Given the description of an element on the screen output the (x, y) to click on. 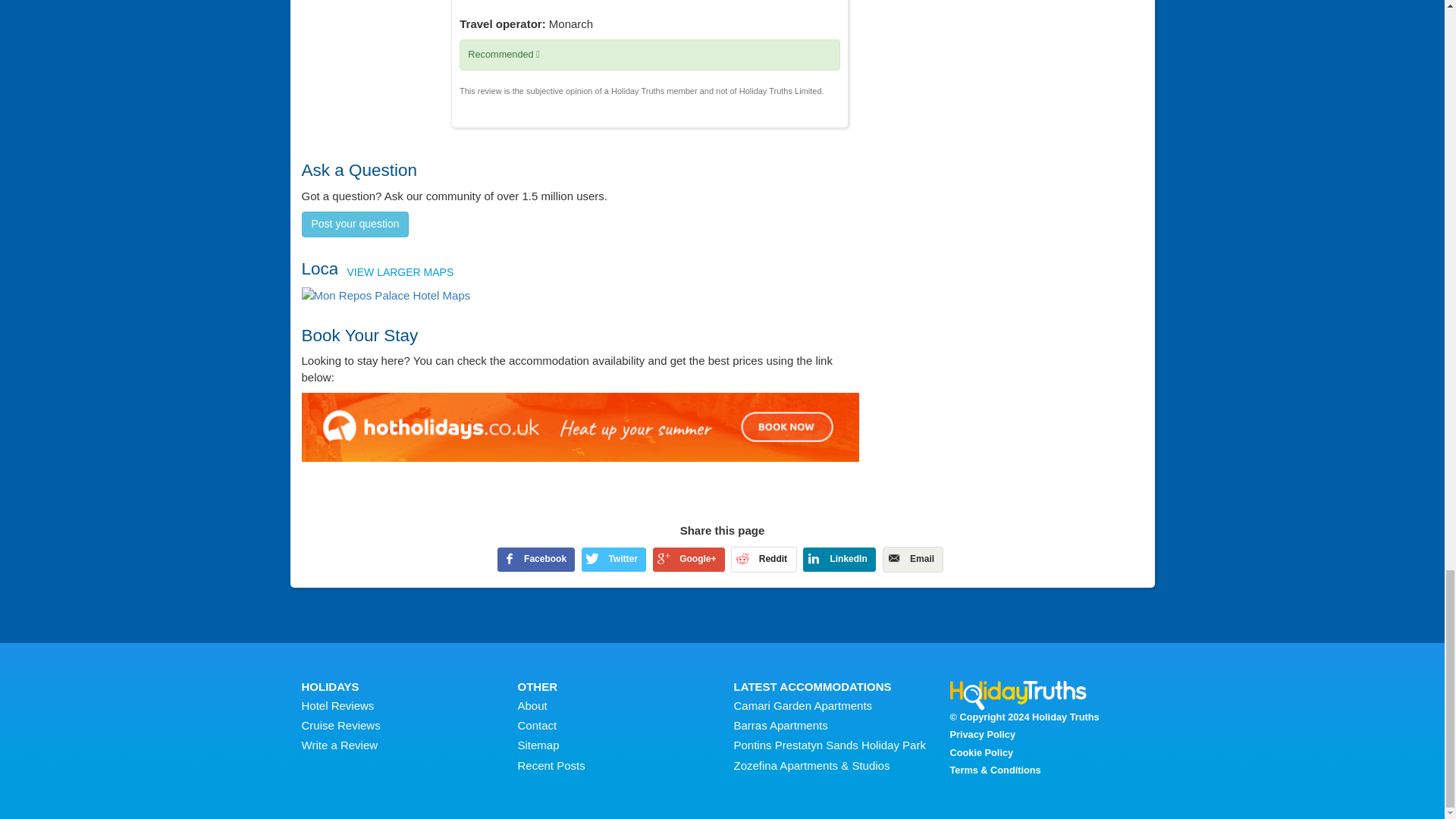
About (531, 705)
LinkedIn (839, 559)
Post your question (355, 224)
Twitter (613, 559)
Write a Review (339, 744)
Cruise Reviews (340, 725)
Facebook (536, 559)
Email (912, 559)
Hotel Reviews (337, 705)
Reddit (763, 559)
VIEW LARGER MAPS (385, 294)
